Given the description of an element on the screen output the (x, y) to click on. 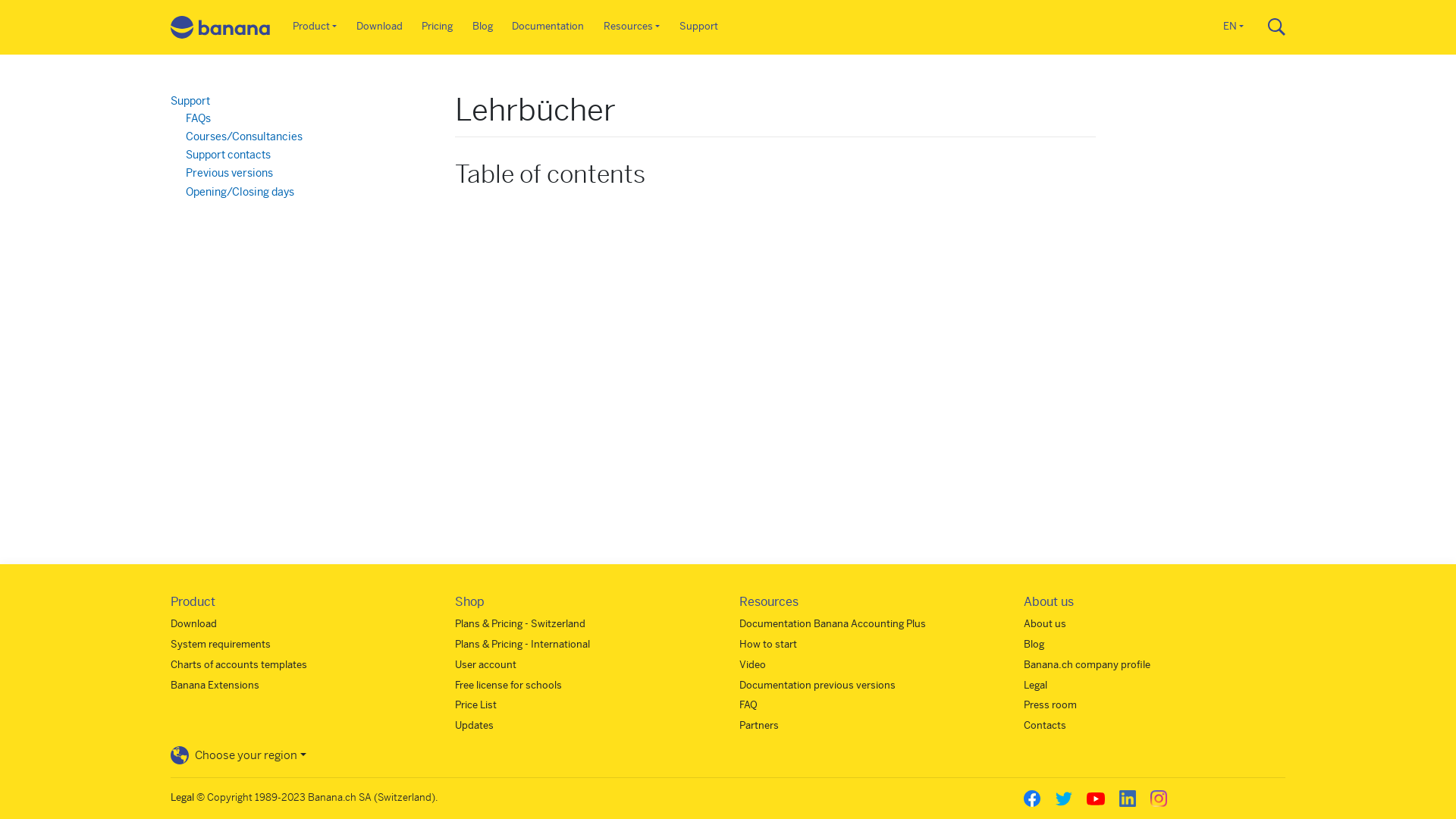
Support Element type: text (698, 26)
FAQ Element type: text (748, 704)
Courses/Consultancies Element type: text (243, 136)
Updates Element type: text (474, 724)
Support contacts Element type: text (227, 154)
How to start Element type: text (768, 643)
Skip to main content Element type: text (727, 1)
Banana.ch company profile Element type: text (1086, 664)
About us Element type: text (1044, 623)
Opening/Closing days Element type: text (239, 191)
Legal Element type: text (182, 796)
Contacts Element type: text (1044, 724)
Press room Element type: text (1049, 704)
Price List Element type: text (475, 704)
Blog Element type: text (1033, 643)
Banana Extensions Element type: text (214, 684)
Blog Element type: text (482, 26)
Support Element type: text (190, 100)
System requirements Element type: text (220, 643)
Resources Element type: text (631, 26)
Pricing Element type: text (437, 26)
Video Element type: text (752, 664)
Previous versions Element type: text (229, 172)
FAQs Element type: text (197, 118)
Product Element type: text (314, 26)
Documentation Banana Accounting Plus Element type: text (832, 623)
Free license for schools Element type: text (508, 684)
Charts of accounts templates Element type: text (238, 664)
Download Element type: text (193, 623)
Documentation Element type: text (548, 26)
Download Element type: text (379, 26)
Plans & Pricing - International Element type: text (522, 643)
Home Element type: hover (220, 26)
Plans & Pricing - Switzerland Element type: text (520, 623)
Documentation previous versions Element type: text (817, 684)
Partners Element type: text (758, 724)
User account Element type: text (485, 664)
Legal Element type: text (1035, 684)
